Given the description of an element on the screen output the (x, y) to click on. 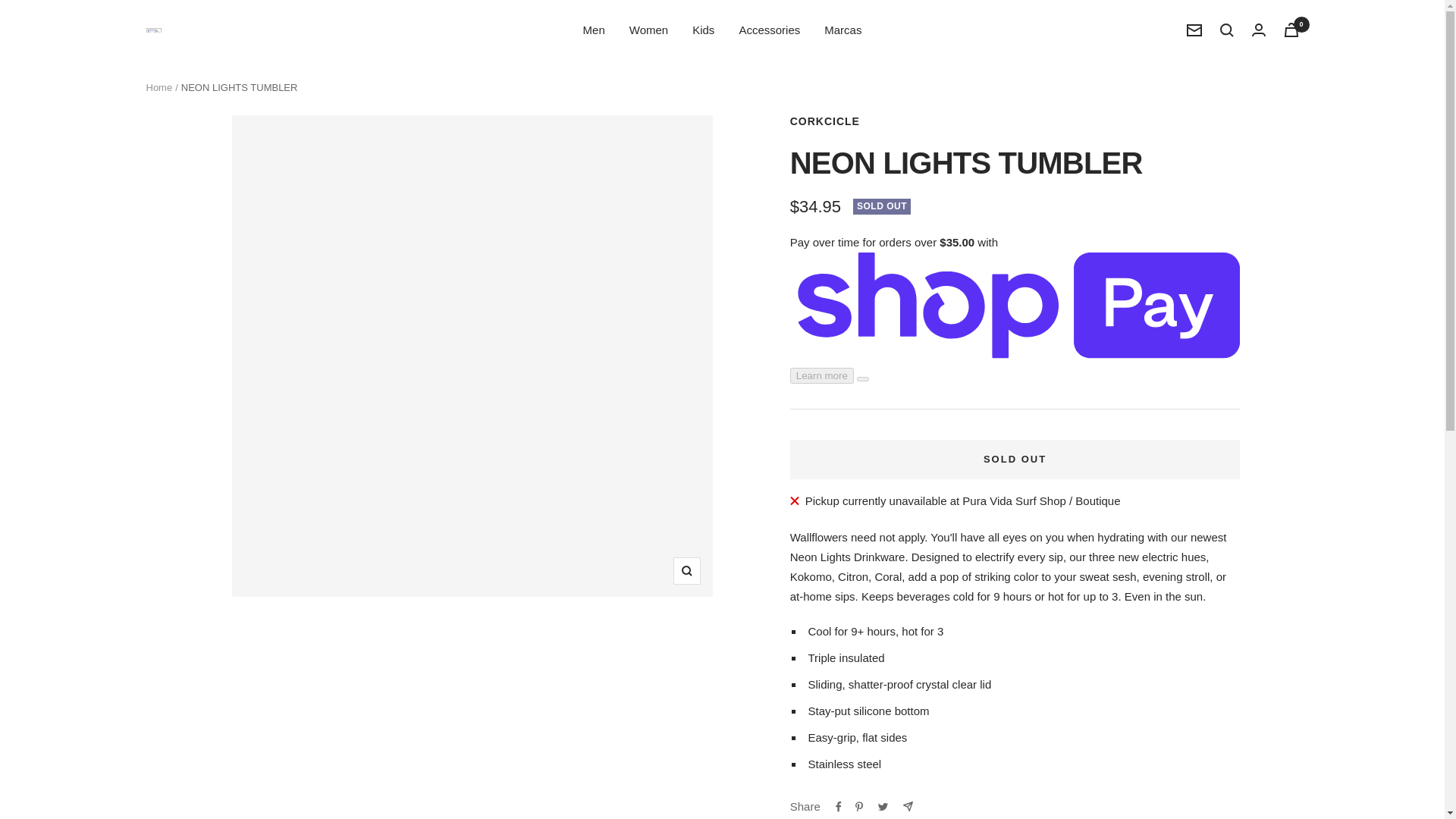
Women (648, 30)
0 (1290, 29)
Marcas (842, 30)
Accessories (768, 30)
Men (594, 30)
CORKCICLE (825, 121)
Home (158, 87)
SOLD OUT (1015, 459)
Newsletter (1193, 30)
Kids (703, 30)
PURA VIDA SURF SHOP BOUTIQUE (152, 30)
Zoom (686, 570)
